Given the description of an element on the screen output the (x, y) to click on. 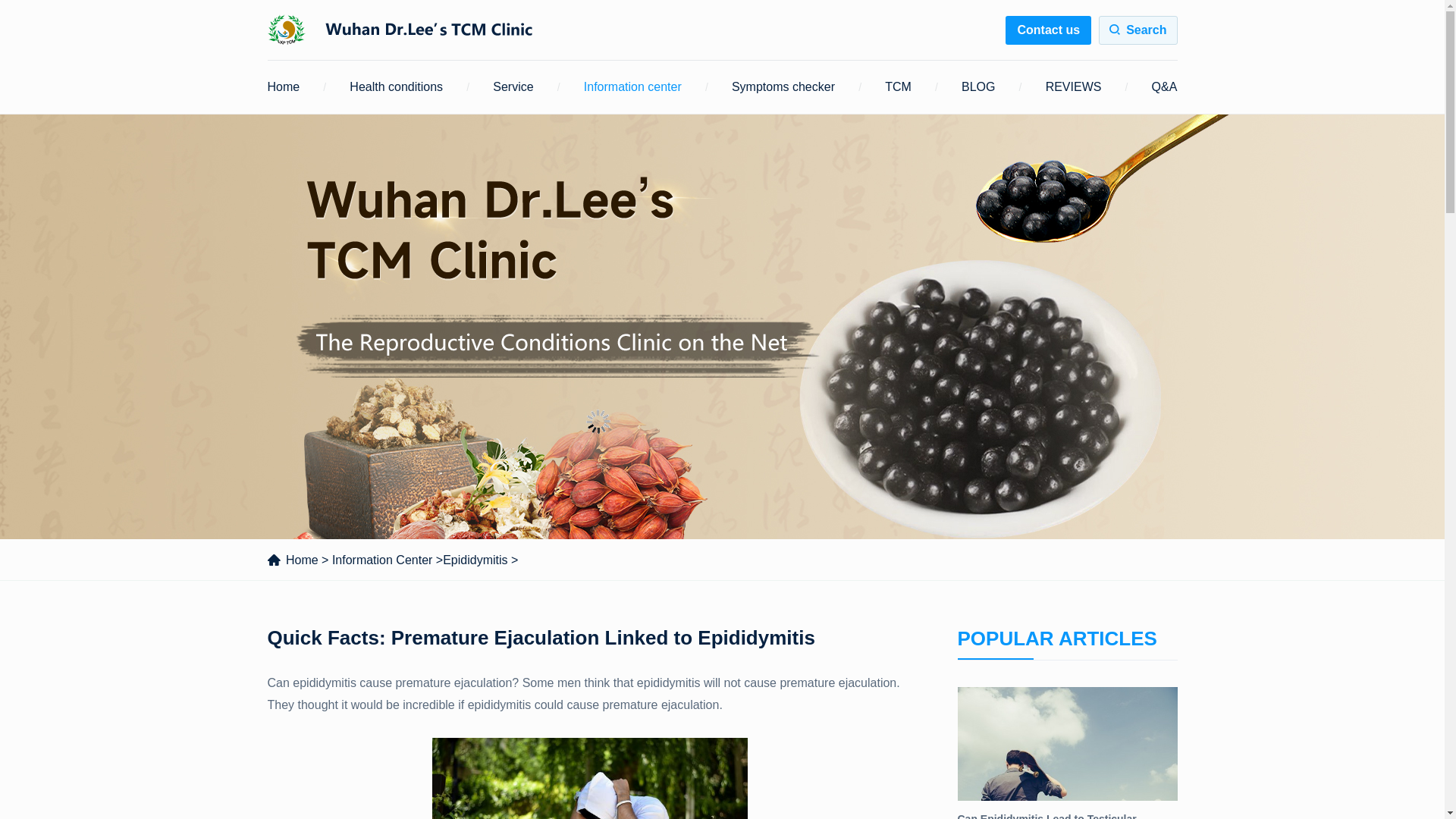
Health conditions (395, 86)
Contact us (1048, 29)
Search (1137, 29)
Information center (632, 86)
Can Epididymitis Lead to Testicular Necrosis? (1066, 753)
